Given the description of an element on the screen output the (x, y) to click on. 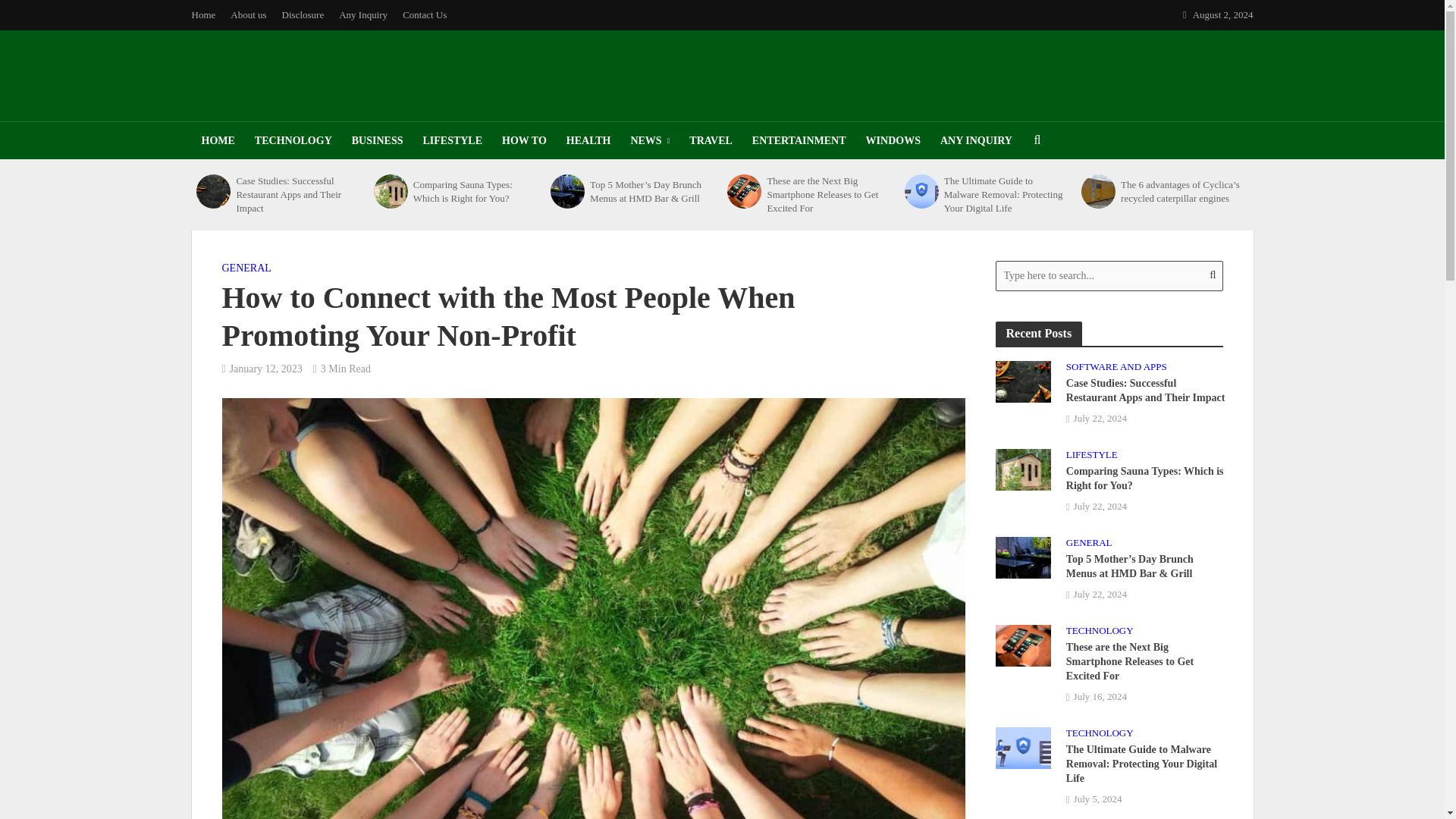
HEALTH (588, 140)
Disclosure (303, 15)
Any Inquiry (362, 15)
Case Studies: Successful Restaurant Apps and Their Impact (295, 194)
Case Studies: Successful Restaurant Apps and Their Impact (212, 191)
WINDOWS (893, 140)
About us (247, 15)
LIFESTYLE (452, 140)
Case Studies: Successful Restaurant Apps and Their Impact (1021, 380)
